Given the description of an element on the screen output the (x, y) to click on. 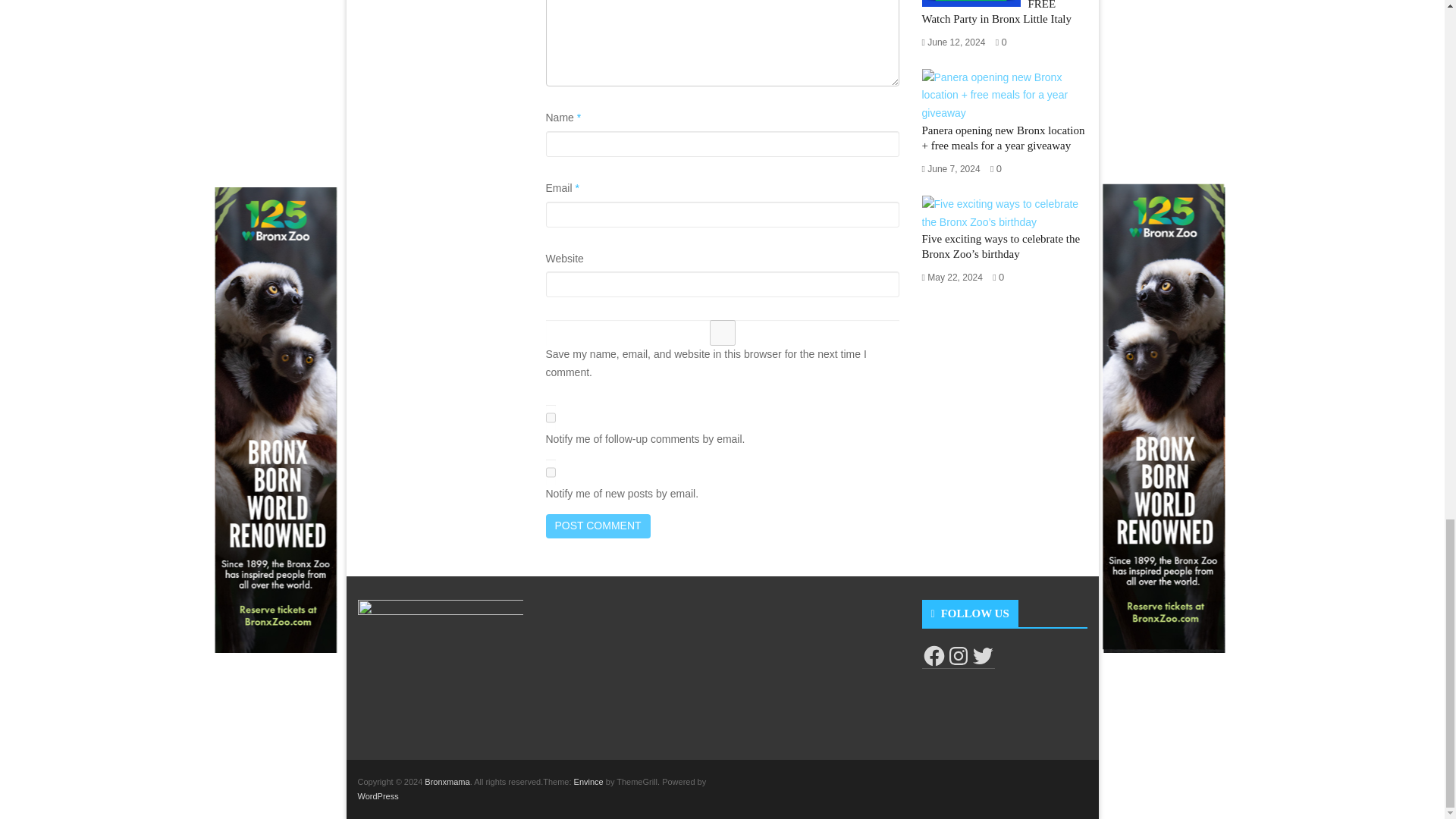
Post Comment (598, 526)
yes (722, 332)
